Given the description of an element on the screen output the (x, y) to click on. 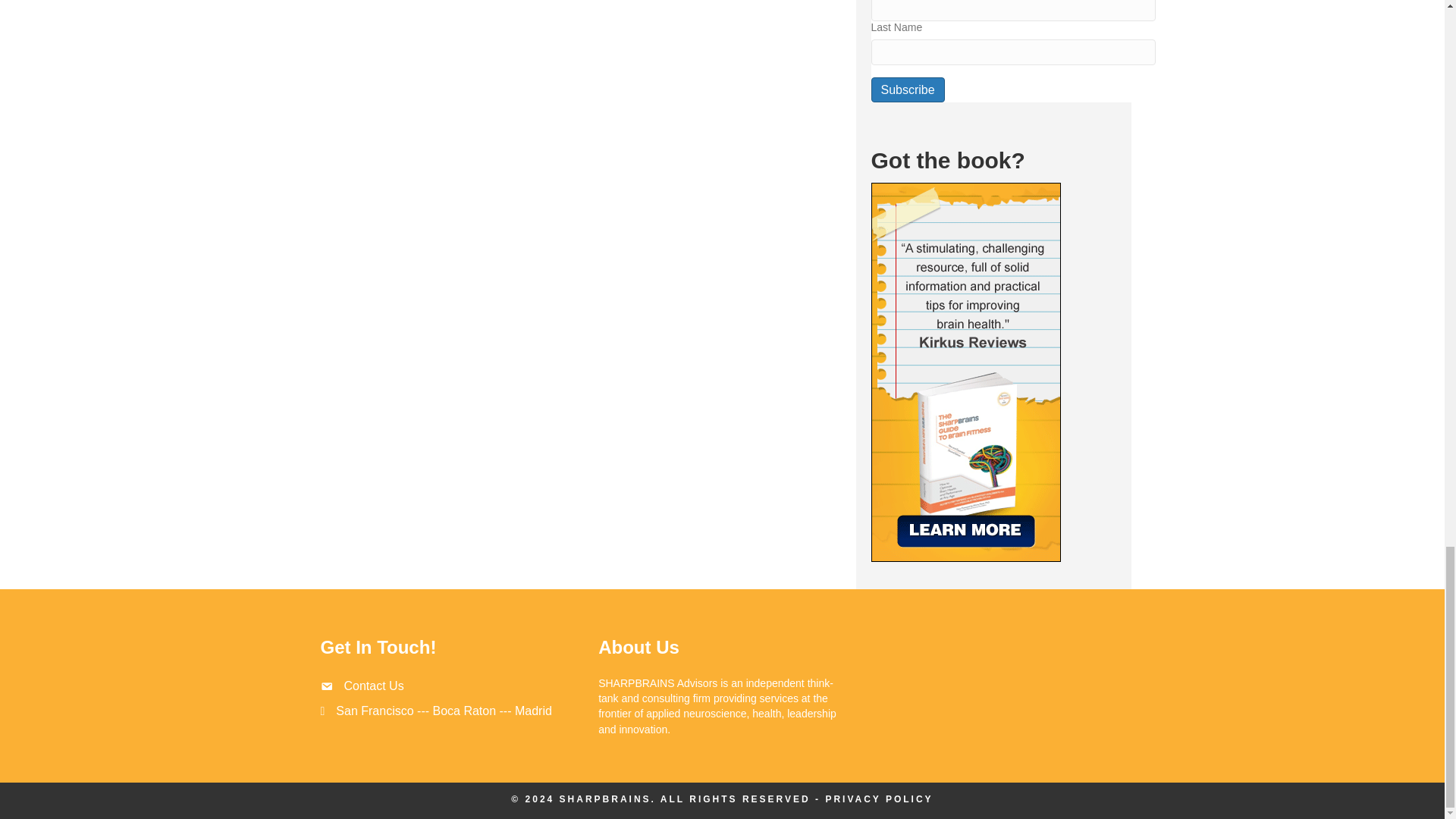
Subscribe (906, 89)
